Given the description of an element on the screen output the (x, y) to click on. 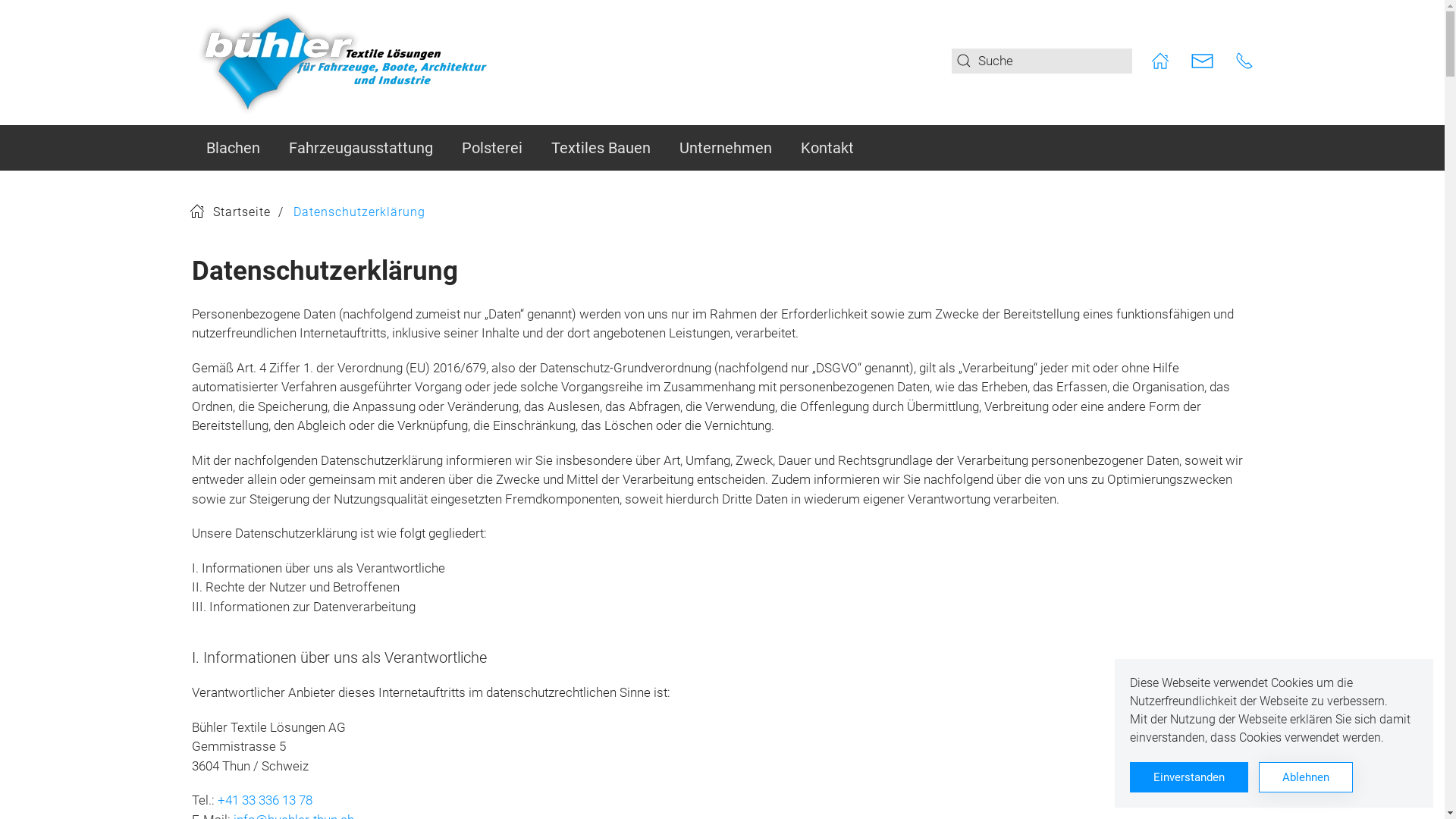
Blachen Element type: text (232, 147)
Unternehmen Element type: text (724, 147)
Kontakt Element type: text (826, 147)
+41 33 336 13 78 Element type: text (263, 799)
Fahrzeugausstattung Element type: text (360, 147)
Polsterei Element type: text (491, 147)
Textiles Bauen Element type: text (600, 147)
Einverstanden Element type: text (1188, 777)
Startseite Element type: text (230, 211)
Ablehnen Element type: text (1305, 777)
